Given the description of an element on the screen output the (x, y) to click on. 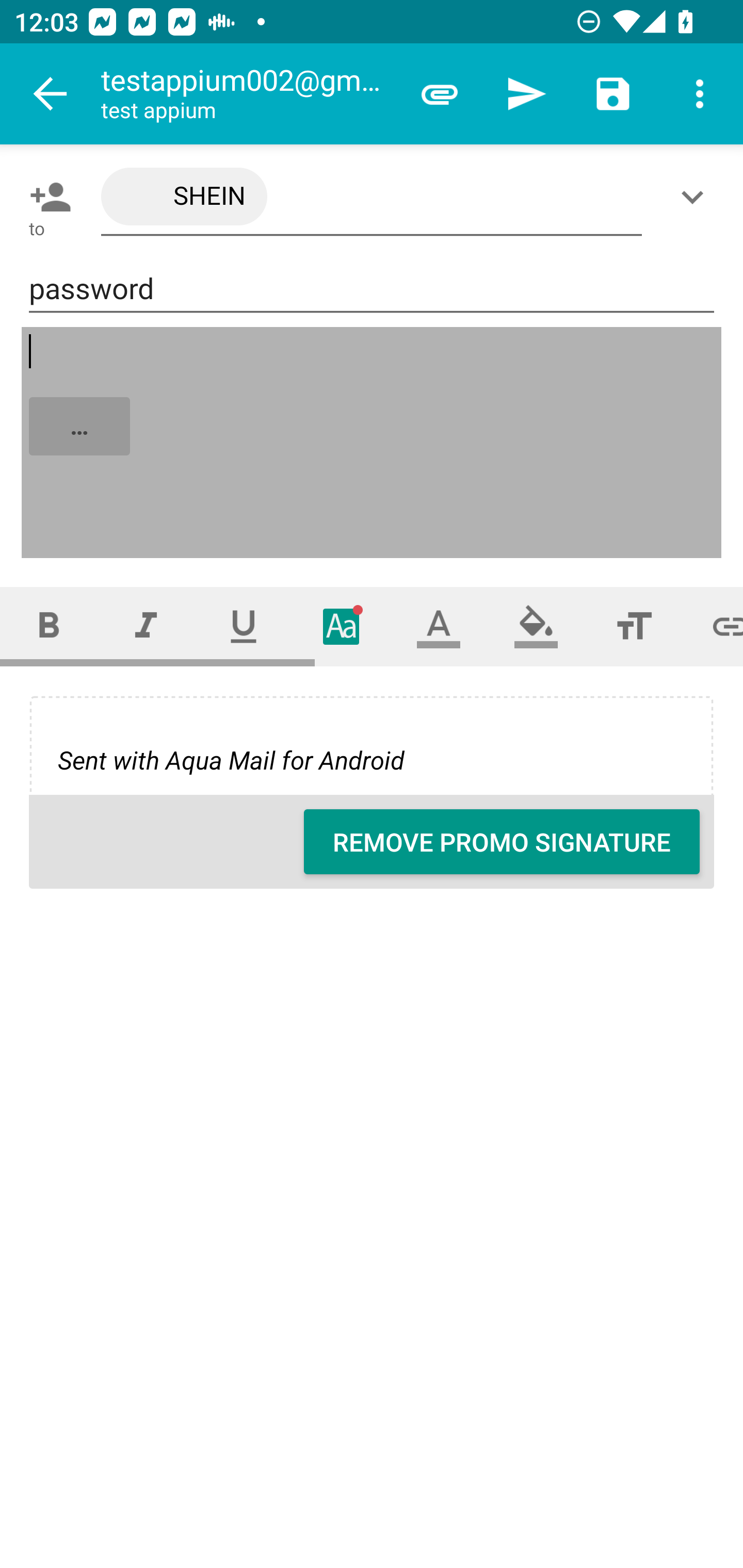
Navigate up (50, 93)
testappium002@gmail.com test appium (248, 93)
Attach (439, 93)
Send (525, 93)
Save (612, 93)
More options (699, 93)
SHEIN <info@news.us.shein.com>,  (371, 197)
Pick contact: To (46, 196)
Show/Add CC/BCC (696, 196)
password (371, 288)

…
 (372, 442)
Bold (48, 626)
Italic (145, 626)
Underline (243, 626)
Typeface (font) (341, 626)
Text color (438, 626)
Fill color (536, 626)
Font size (633, 626)
Set link (712, 626)
REMOVE PROMO SIGNATURE (501, 841)
